Given the description of an element on the screen output the (x, y) to click on. 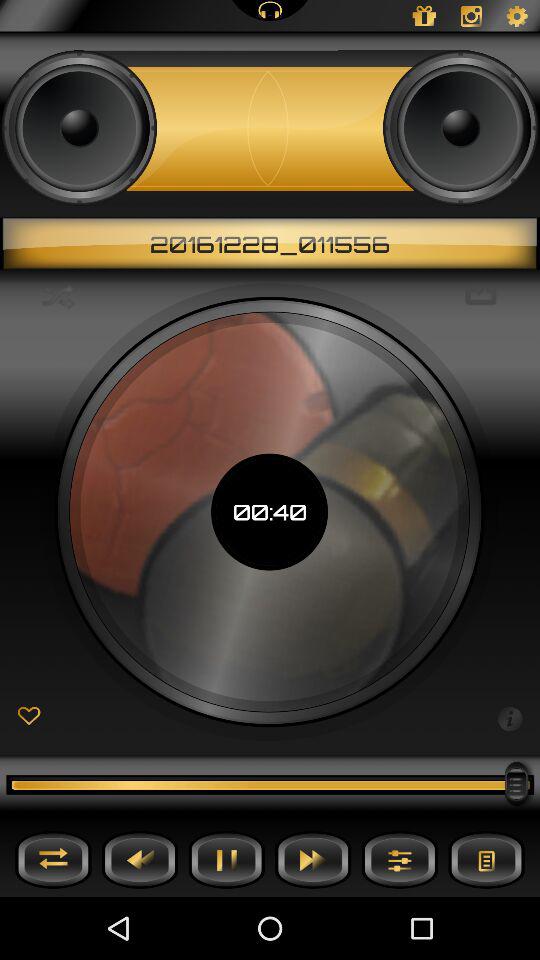
setting button (399, 859)
